Given the description of an element on the screen output the (x, y) to click on. 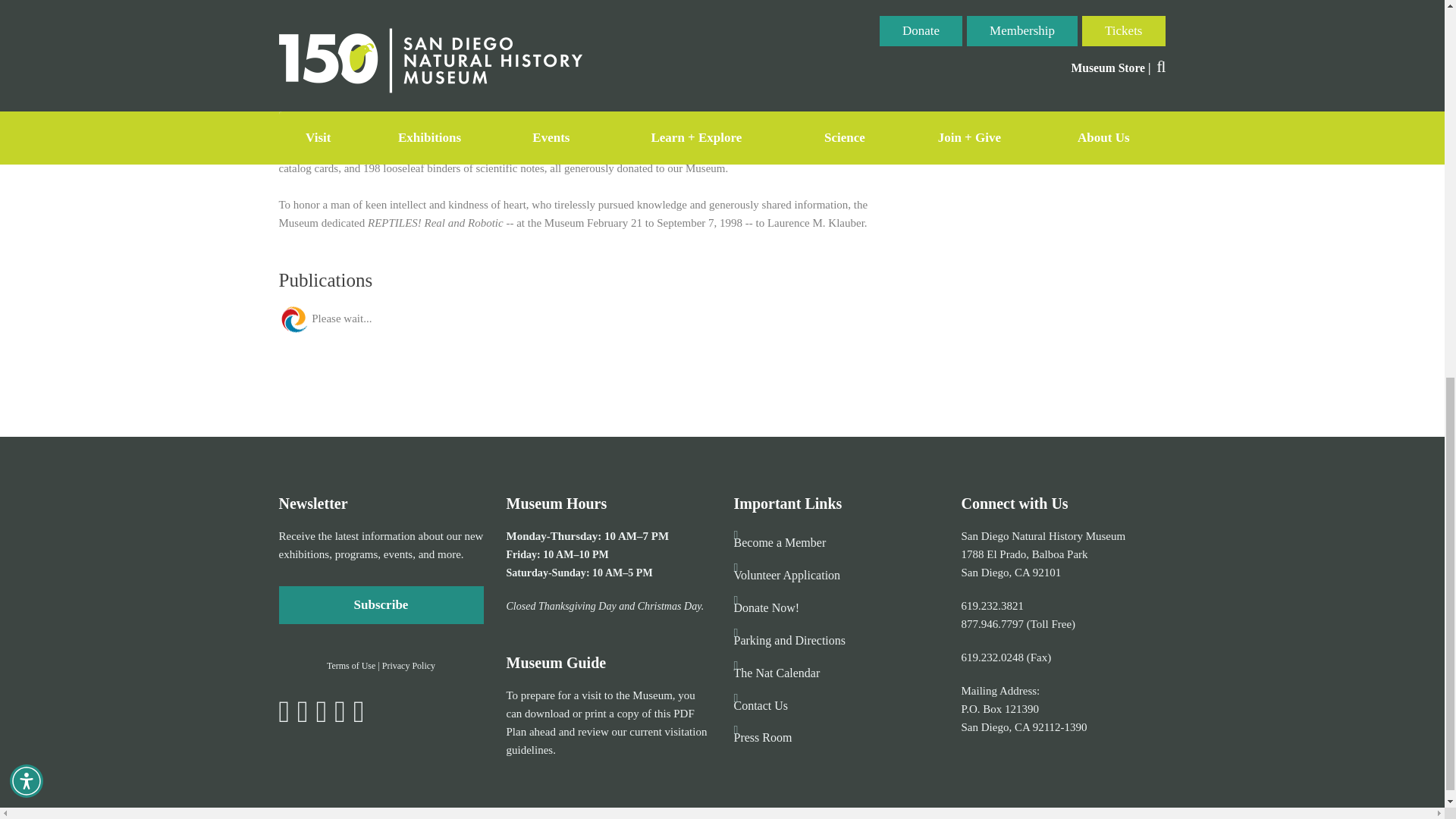
Accessibility Menu (26, 61)
Subscribe (381, 605)
